Given the description of an element on the screen output the (x, y) to click on. 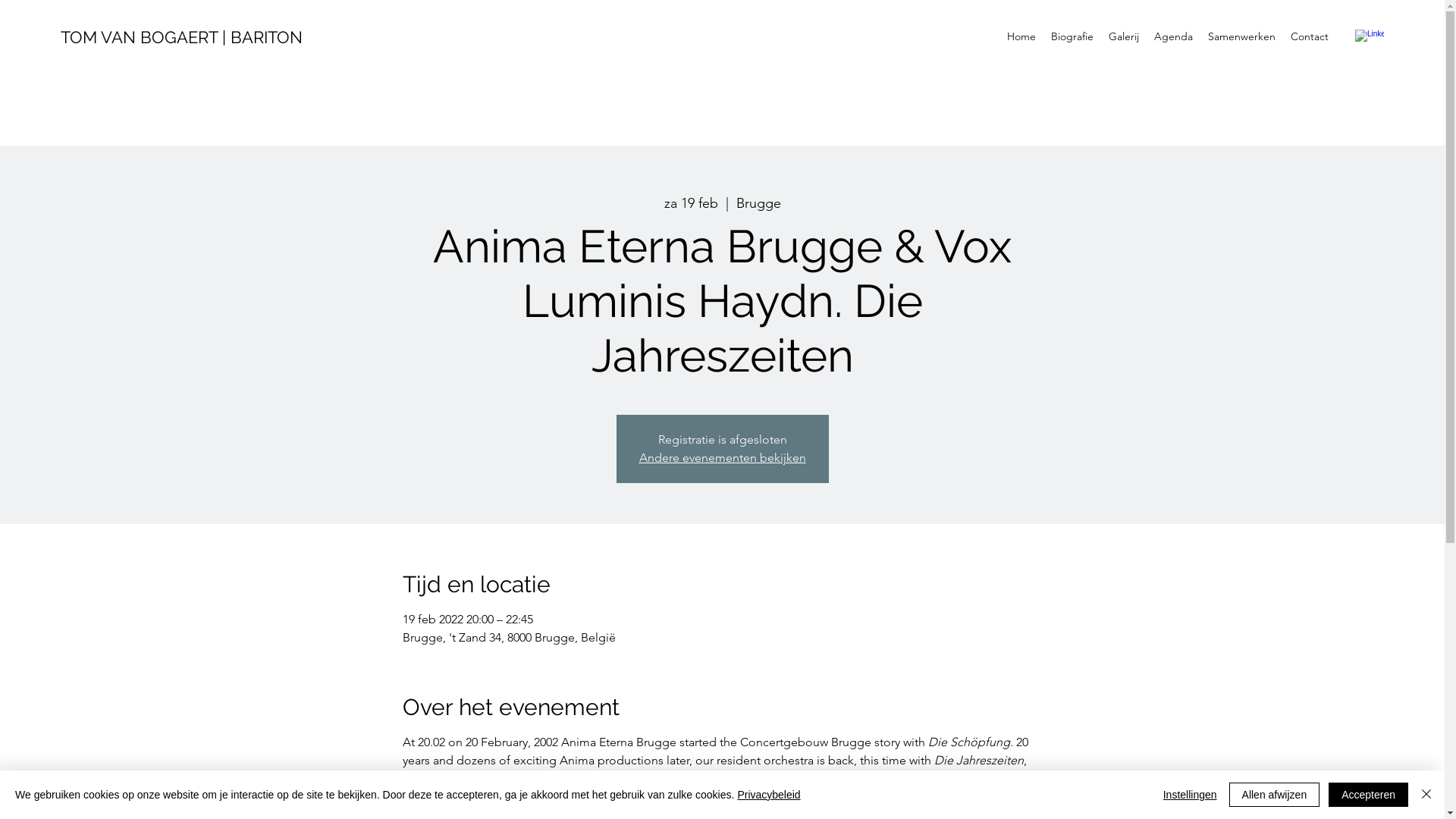
Privacybeleid Element type: text (768, 794)
Samenwerken Element type: text (1241, 36)
Biografie Element type: text (1072, 36)
Contact Element type: text (1309, 36)
Home Element type: text (1021, 36)
Allen afwijzen Element type: text (1274, 794)
Accepteren Element type: text (1368, 794)
Andere evenementen bekijken Element type: text (721, 457)
Galerij Element type: text (1123, 36)
TOM VAN BOGAERT | BARITON Element type: text (181, 37)
Agenda Element type: text (1173, 36)
